Given the description of an element on the screen output the (x, y) to click on. 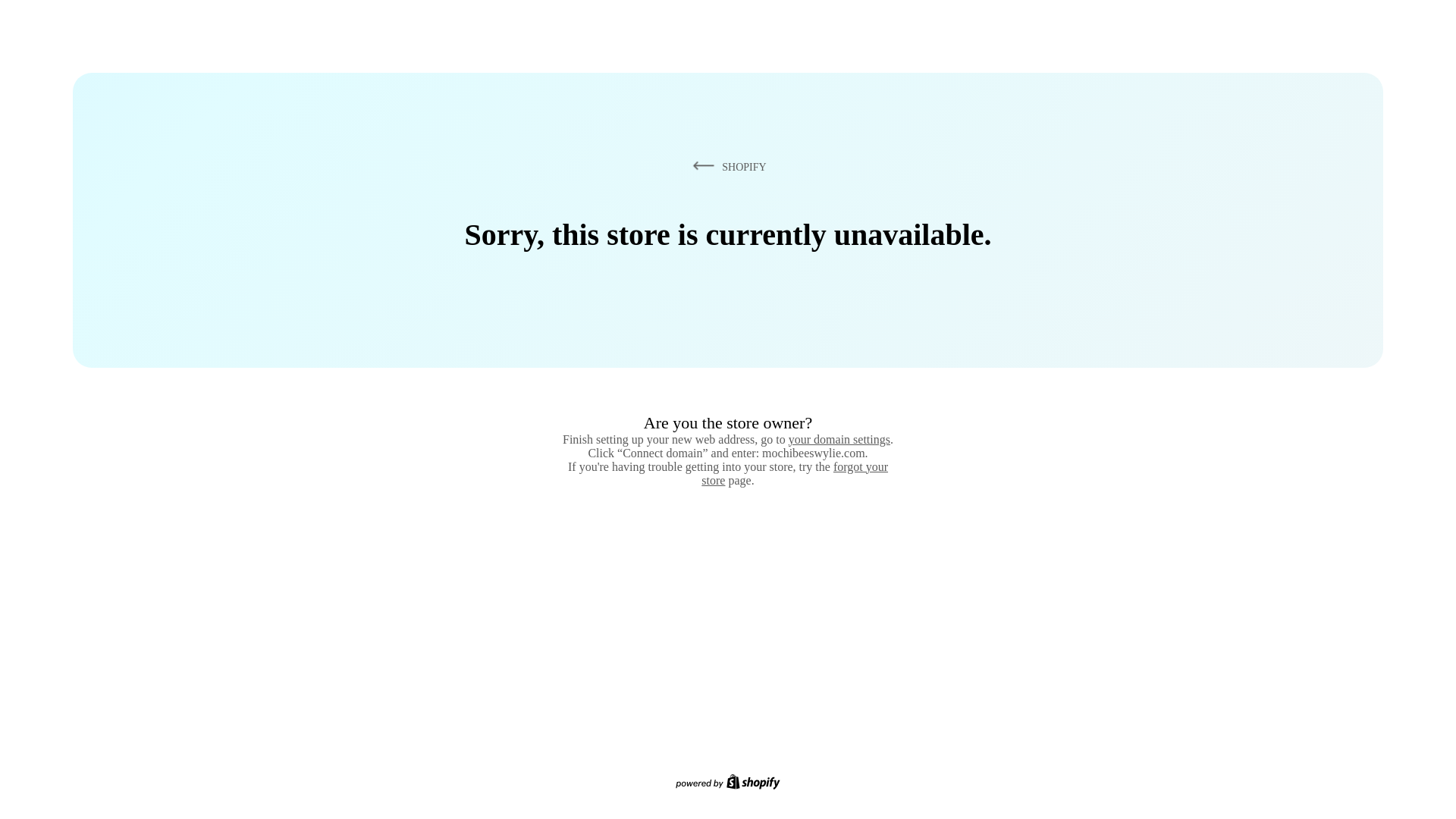
your domain settings (839, 439)
forgot your store (794, 473)
SHOPIFY (726, 166)
